Given the description of an element on the screen output the (x, y) to click on. 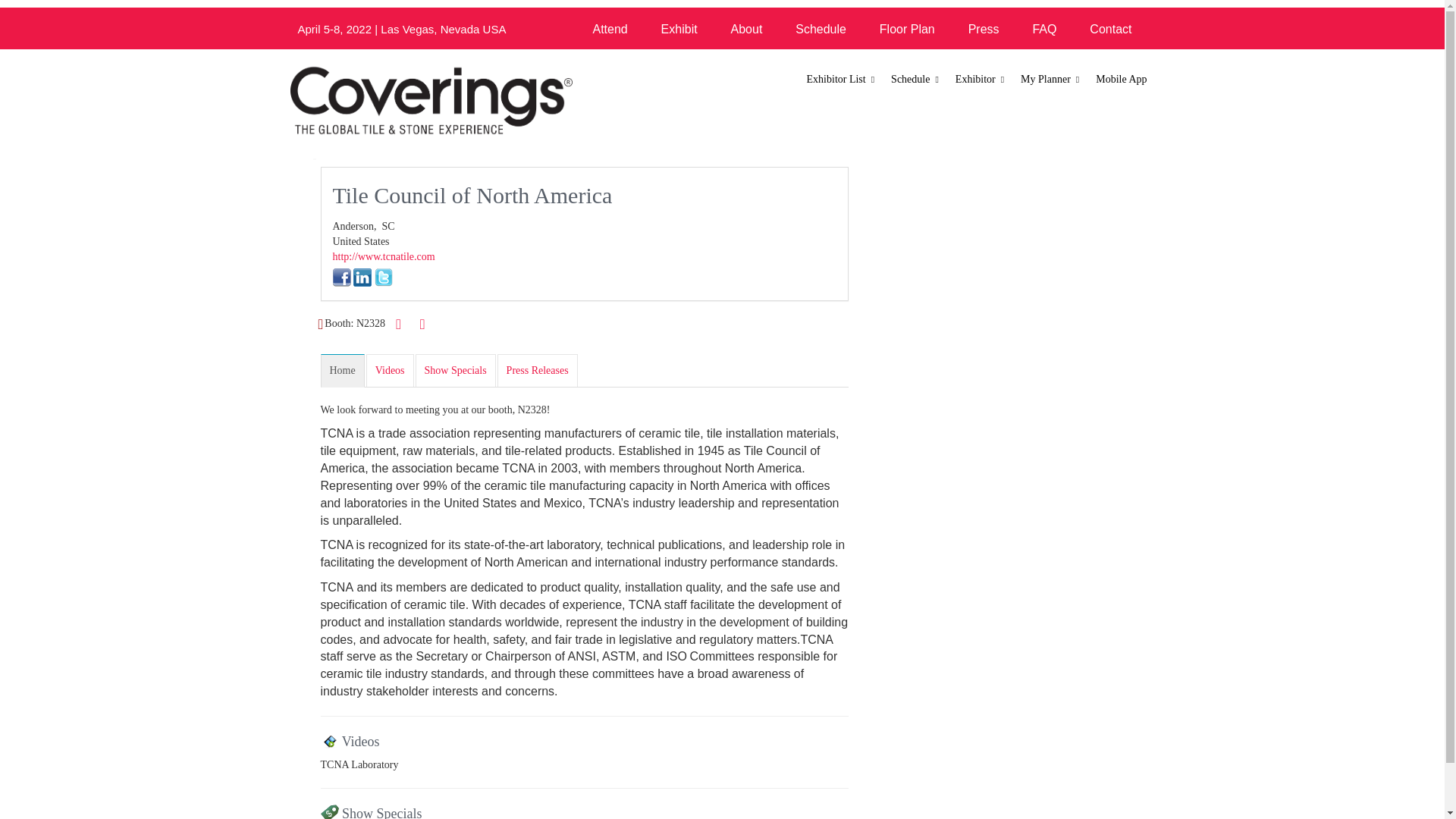
Attend (609, 29)
Print (398, 323)
About (746, 29)
Contact (1110, 29)
Schedule (915, 79)
Floor Plan (907, 29)
FAQ (1043, 29)
Mobile App (1120, 79)
Exhibitor List (841, 79)
Schedule (820, 29)
Add To My Exhibitors (421, 324)
Exhibit (679, 29)
Exhibitor (980, 79)
My Planner (1050, 79)
Press (983, 29)
